Given the description of an element on the screen output the (x, y) to click on. 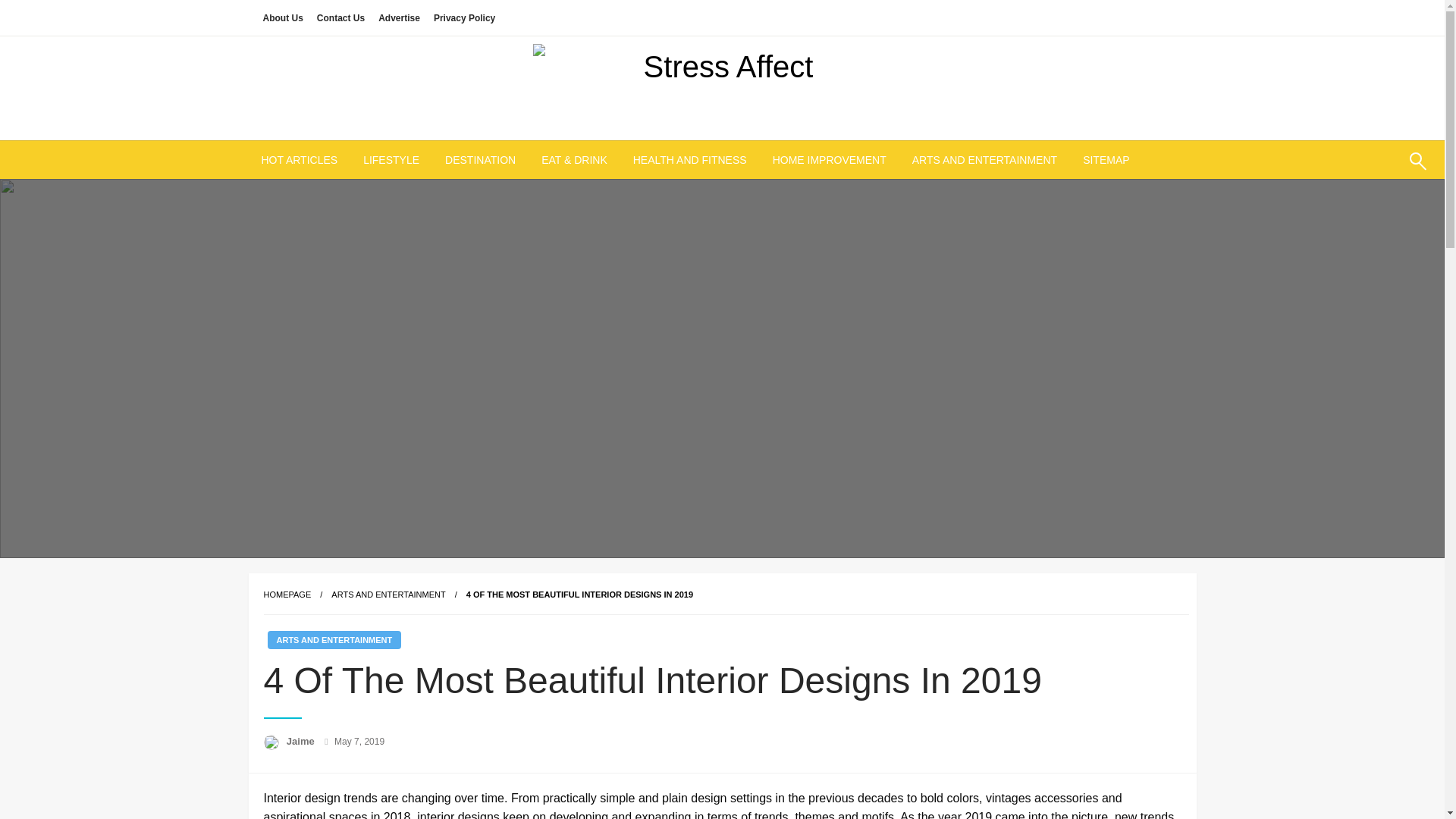
HOME IMPROVEMENT (829, 159)
Advertise (398, 17)
Search (1381, 170)
Contact Us (340, 17)
HOMEPAGE (287, 593)
Privacy Policy (464, 17)
DESTINATION (480, 159)
LIFESTYLE (391, 159)
SITEMAP (1105, 159)
4 Of The Most Beautiful Interior Designs In 2019 (579, 593)
ARTS AND ENTERTAINMENT (984, 159)
HOT ARTICLES (299, 159)
Jaime (301, 740)
HEALTH AND FITNESS (690, 159)
ARTS AND ENTERTAINMENT (388, 593)
